Given the description of an element on the screen output the (x, y) to click on. 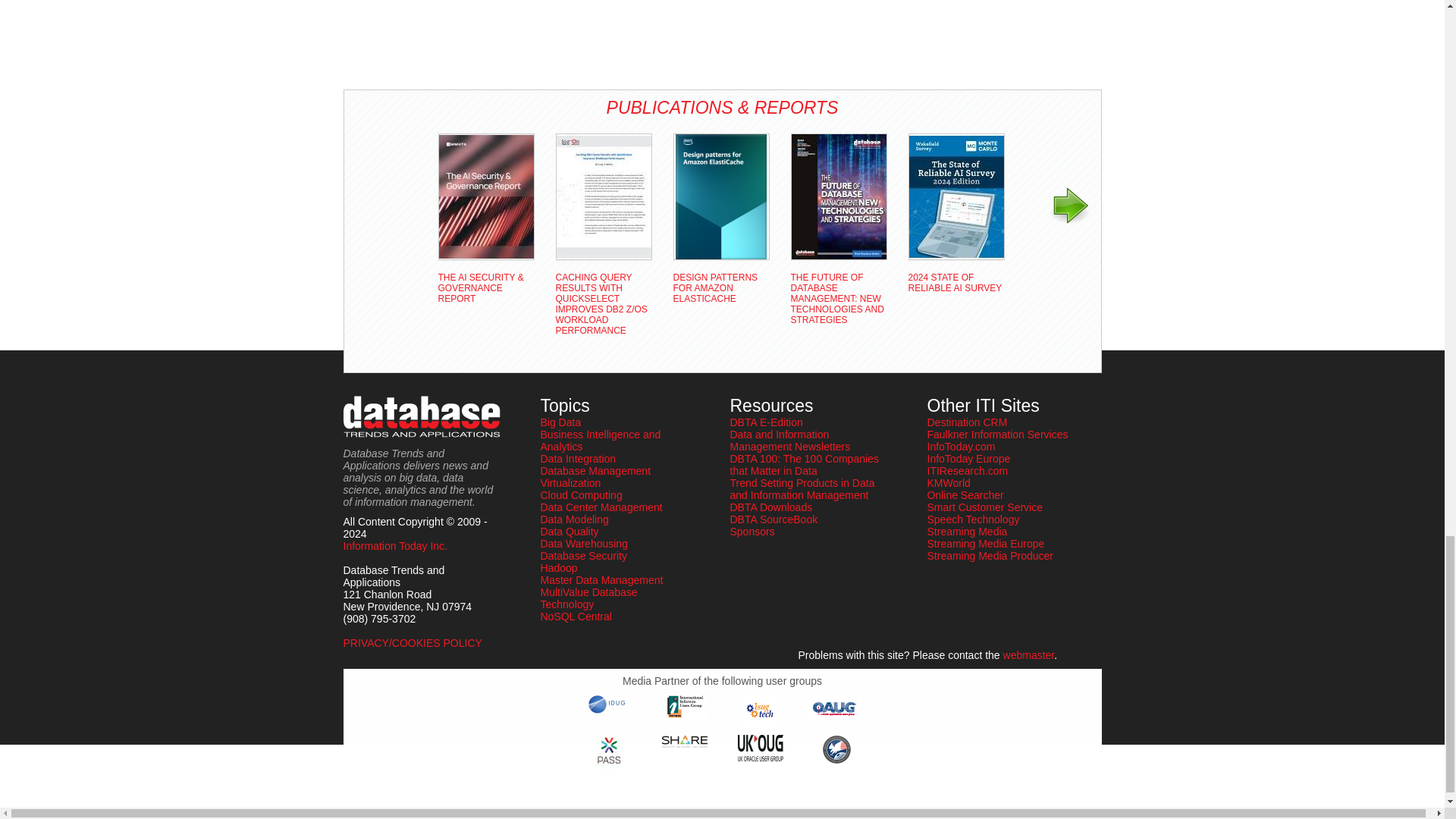
3rd party ad content (403, 39)
